Given the description of an element on the screen output the (x, y) to click on. 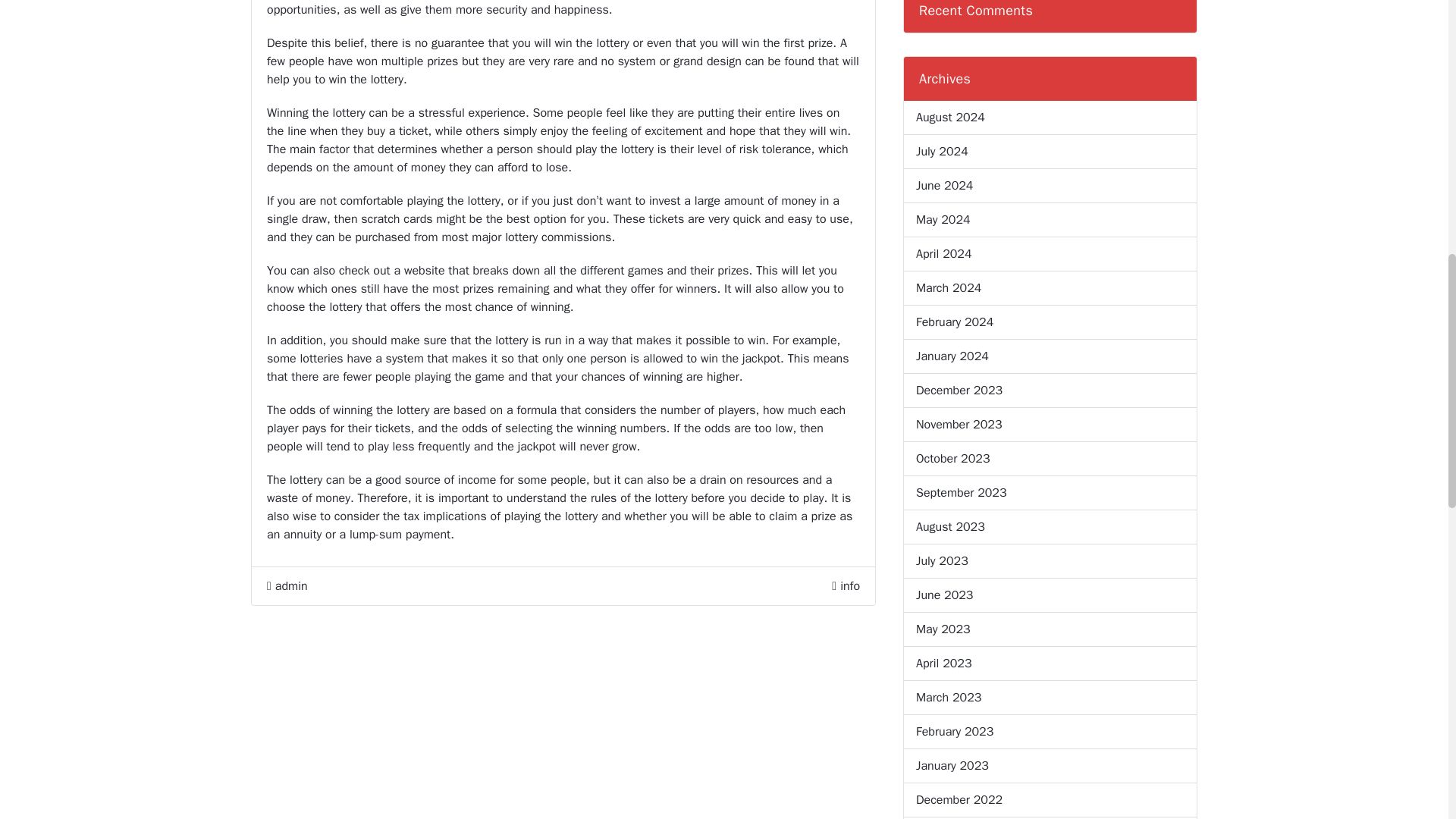
January 2023 (951, 765)
admin (286, 586)
April 2023 (943, 663)
September 2023 (961, 493)
August 2023 (950, 526)
admin (286, 586)
May 2023 (943, 628)
December 2022 (959, 800)
info (850, 585)
March 2024 (948, 288)
